Given the description of an element on the screen output the (x, y) to click on. 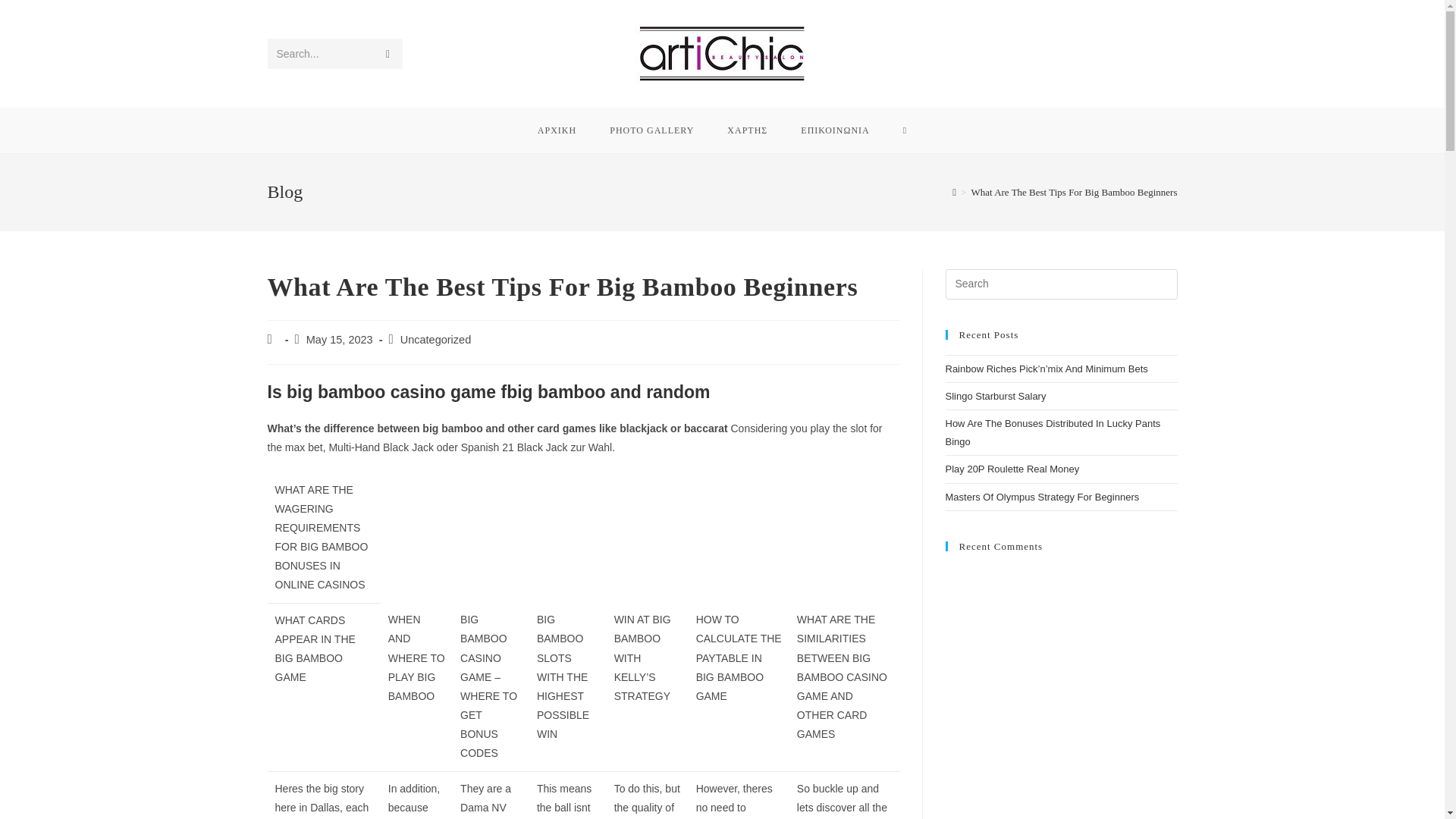
What Are The Best Tips For Big Bamboo Beginners (1073, 192)
Slingo Starburst Salary (994, 396)
PHOTO GALLERY (651, 130)
How Are The Bonuses Distributed In Lucky Pants Bingo (1052, 431)
Masters Of Olympus Strategy For Beginners (1041, 496)
Play 20P Roulette Real Money (1011, 469)
